Given the description of an element on the screen output the (x, y) to click on. 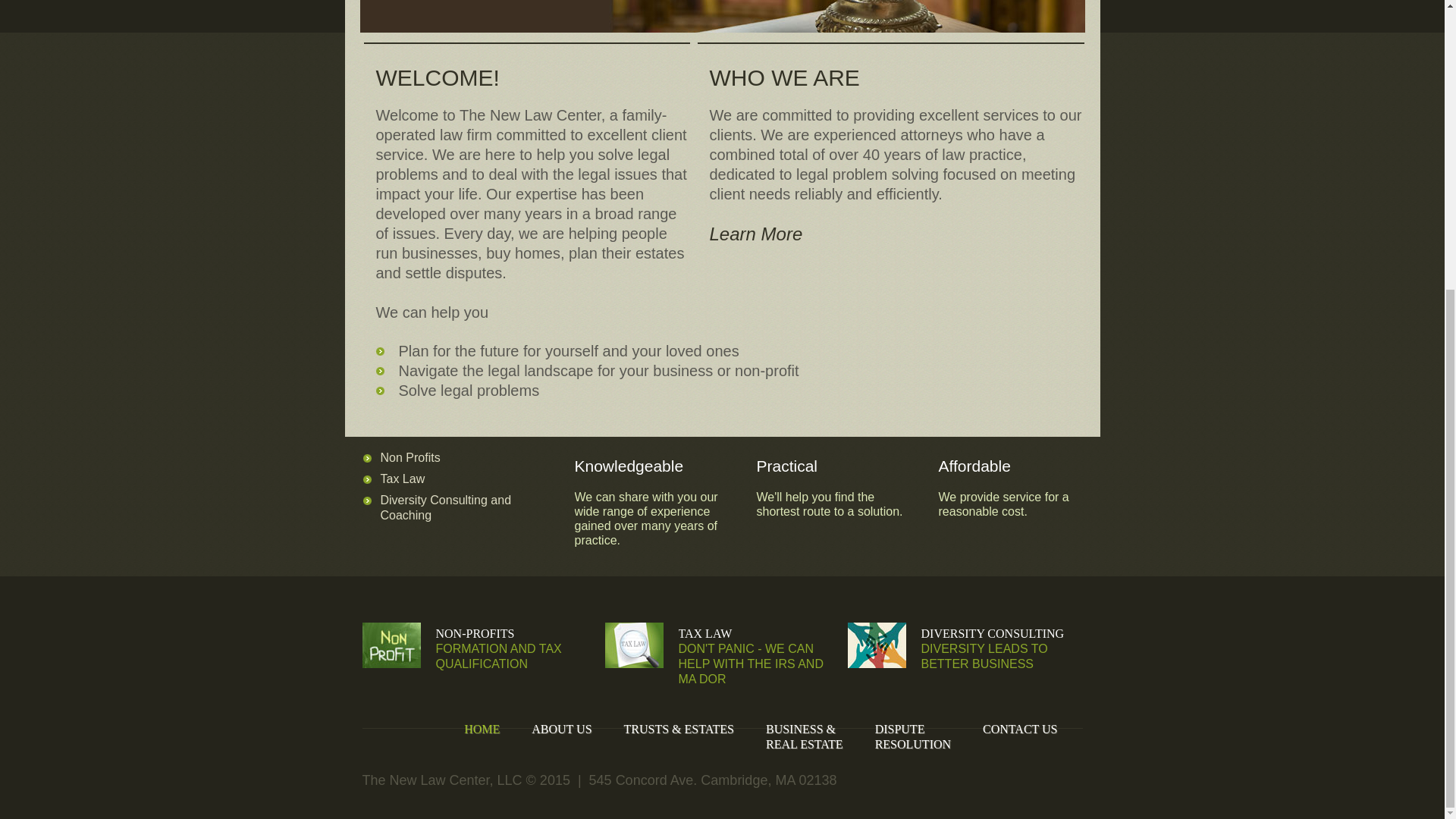
Learn More (756, 233)
ABOUT US (912, 736)
Tax Law (561, 728)
HOME (402, 478)
DIVERSITY CONSULTING (481, 728)
Non Profits (992, 633)
CONTACT US (410, 457)
TAX LAW (1019, 728)
Diversity Consulting and Coaching (705, 633)
NON-PROFITS (446, 507)
